Given the description of an element on the screen output the (x, y) to click on. 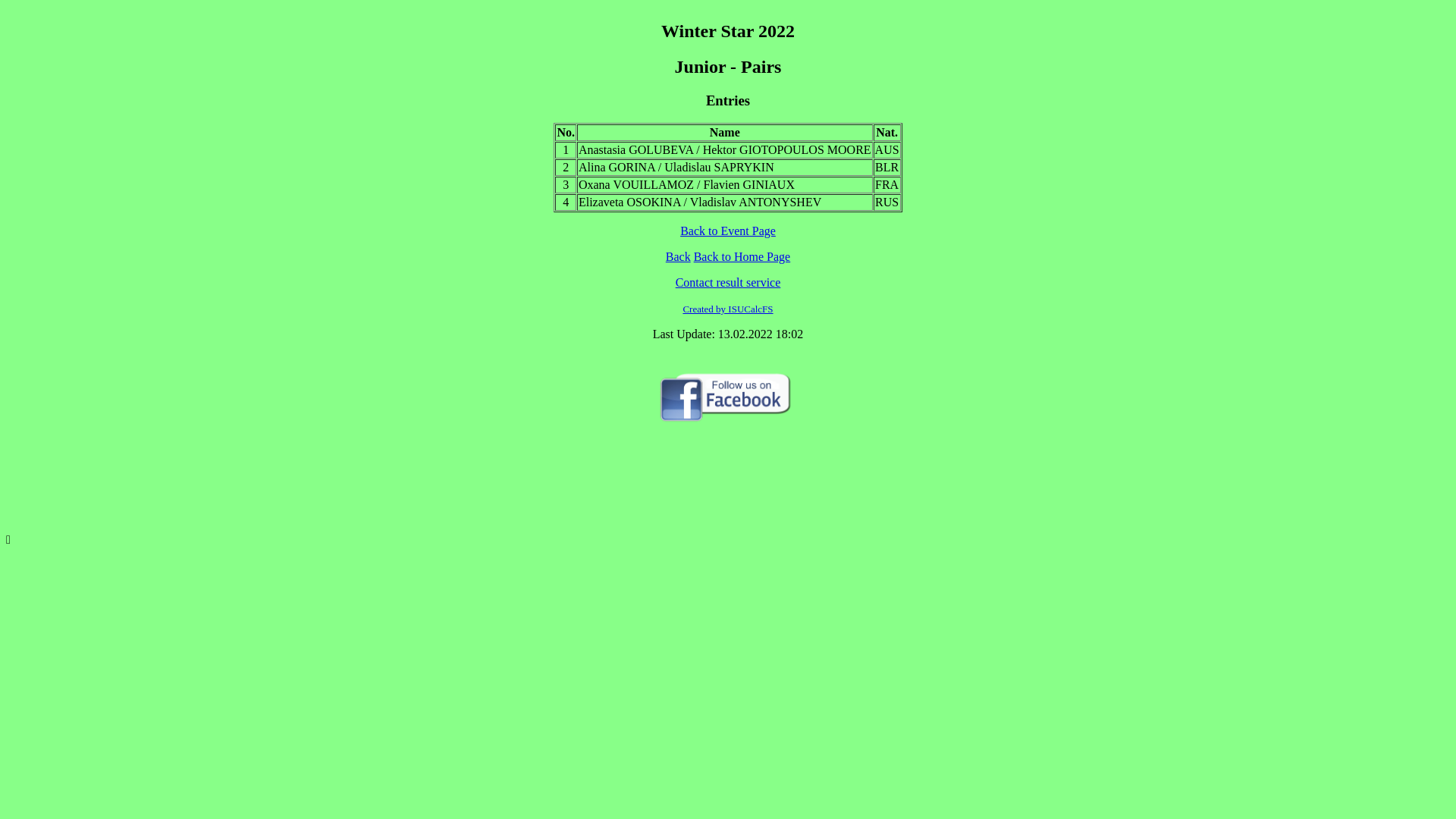
LiveInternet: number of viewings and visitors Element type: hover (727, 487)
Anastasia GOLUBEVA / Hektor GIOTOPOULOS MOORE Element type: text (724, 149)
Created by ISUCalcFS Element type: text (727, 308)
Elizaveta OSOKINA / Vladislav ANTONYSHEV Element type: text (699, 201)
Back to Event Page Element type: text (727, 230)
Back to Home Page Element type: text (741, 256)
Oxana VOUILLAMOZ / Flavien GINIAUX Element type: text (686, 184)
Alina GORINA / Uladislau SAPRYKIN Element type: text (676, 166)
Back Element type: text (677, 256)
Contact result service Element type: text (728, 282)
